Given the description of an element on the screen output the (x, y) to click on. 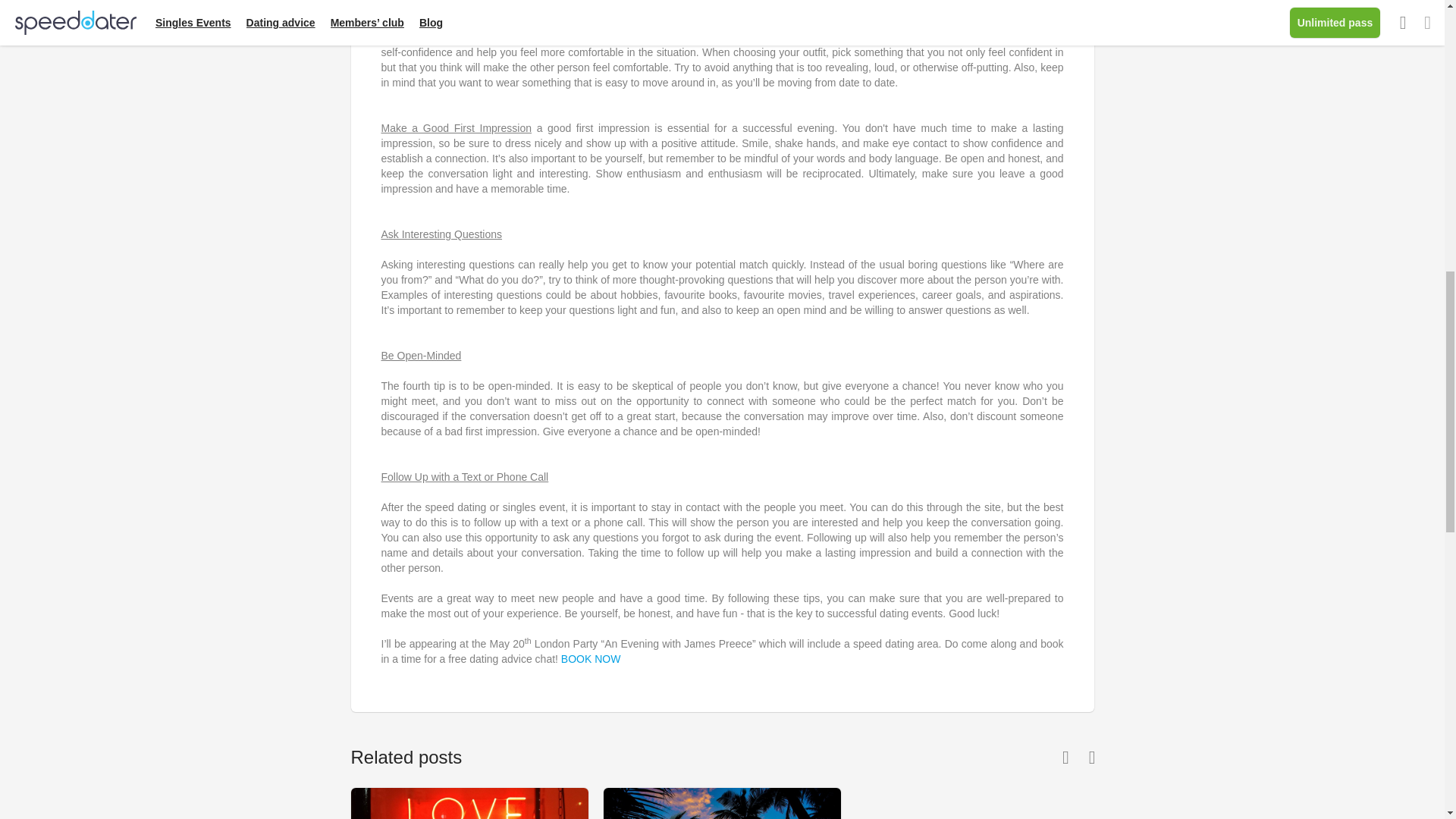
BOOK NOW (590, 658)
